Given the description of an element on the screen output the (x, y) to click on. 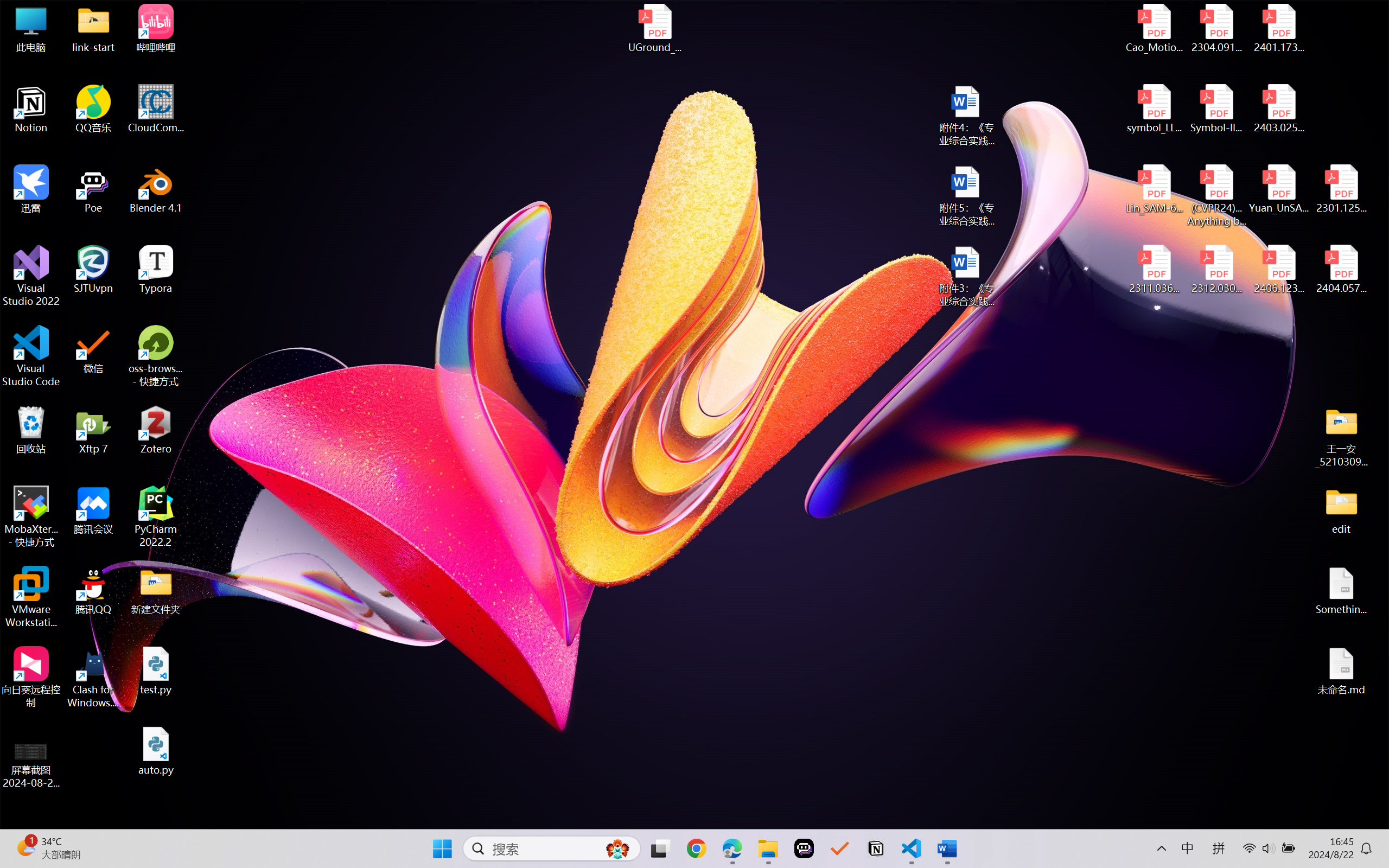
Symbol-llm-v2.pdf (1216, 109)
Typora (156, 269)
PyCharm 2022.2 (156, 516)
Xftp 7 (93, 430)
test.py (156, 670)
CloudCompare (156, 109)
2304.09121v3.pdf (1216, 28)
